Given the description of an element on the screen output the (x, y) to click on. 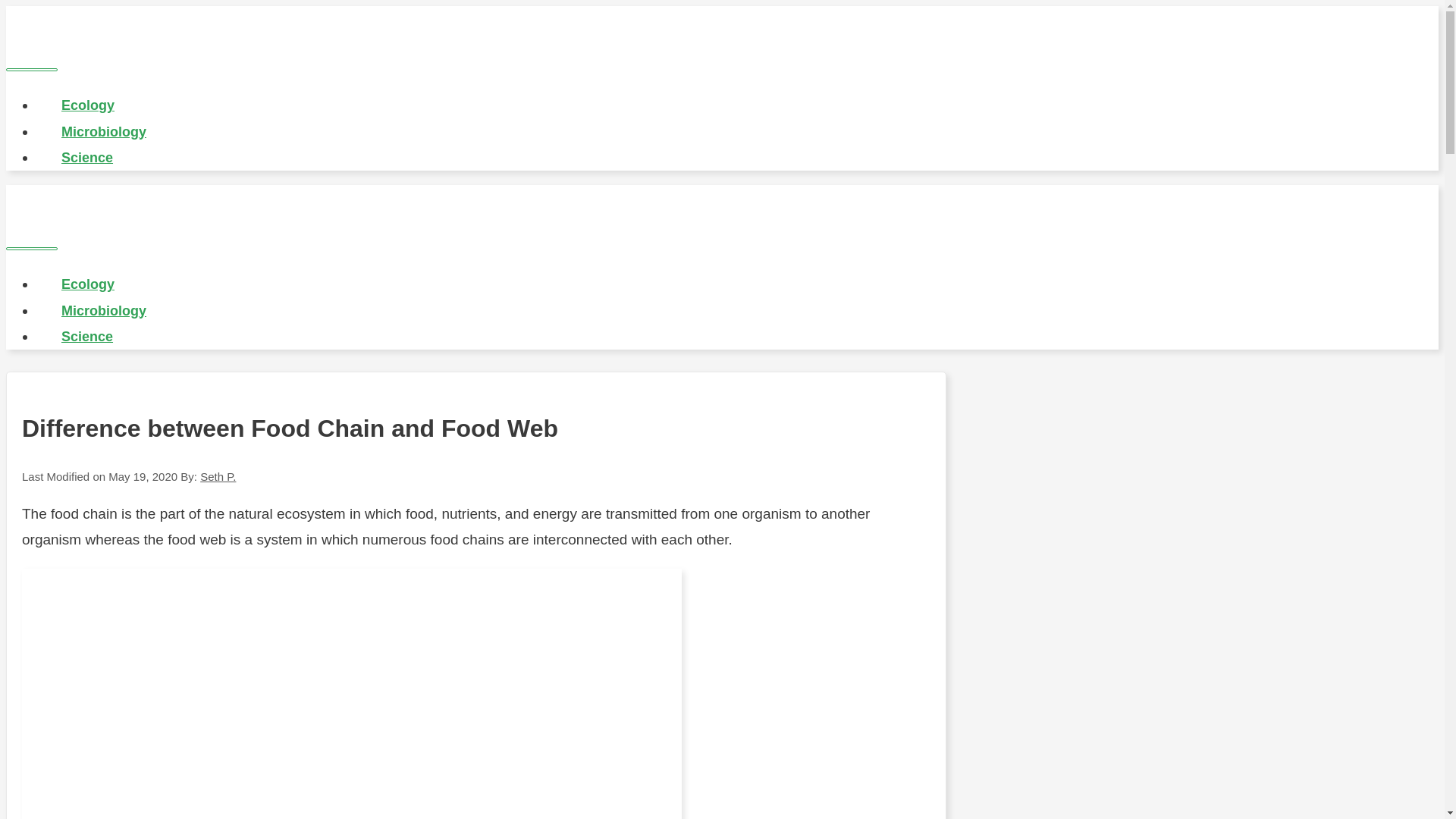
Bio Differences (134, 203)
Menu (31, 69)
Science (87, 336)
Microbiology (103, 310)
Bio Differences (134, 218)
Menu (31, 248)
Microbiology (103, 131)
Ecology (87, 105)
Seth P. (217, 476)
Ecology (87, 283)
Bio Differences (134, 38)
Seth P. (217, 476)
Science (87, 157)
